Given the description of an element on the screen output the (x, y) to click on. 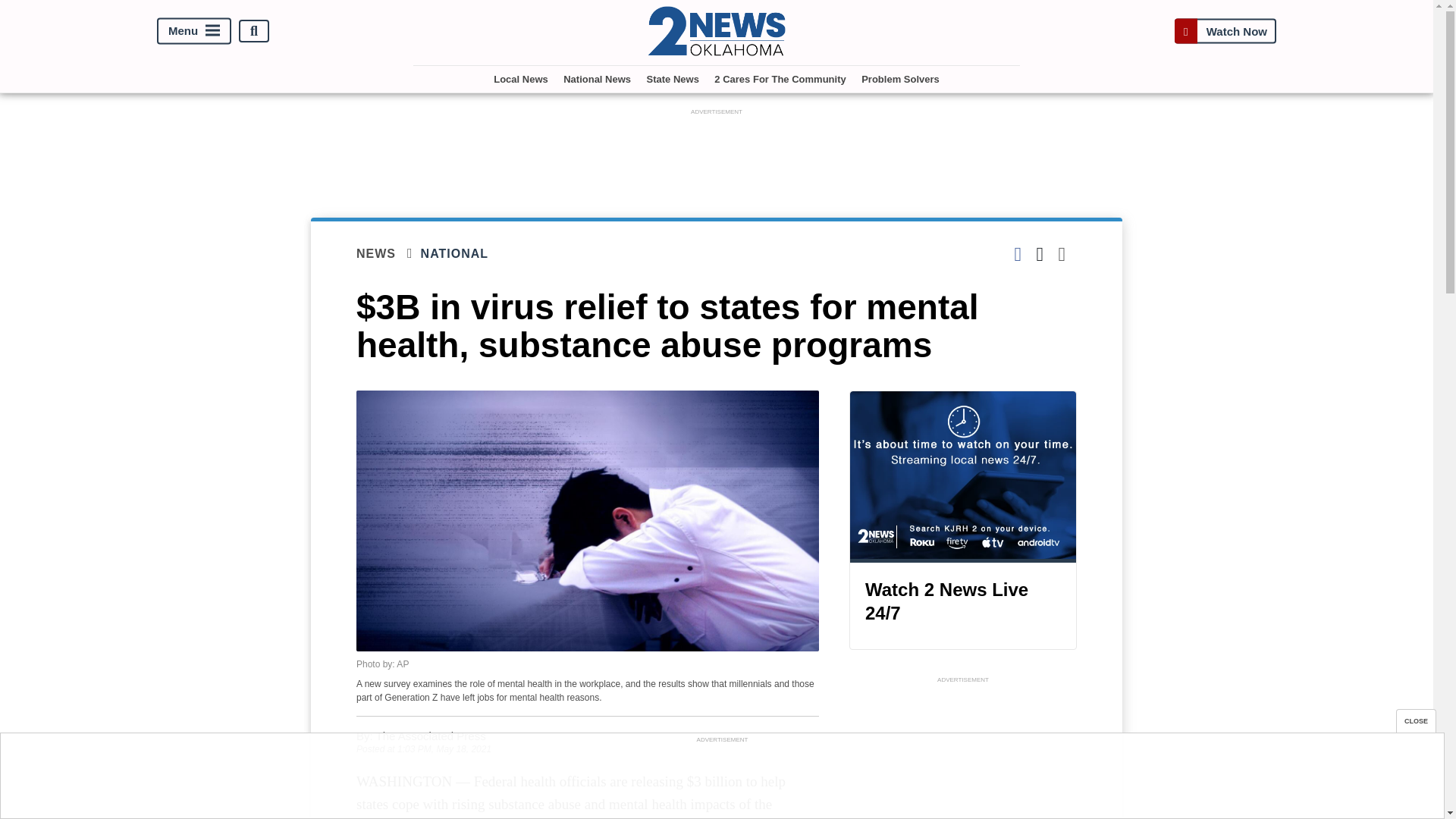
3rd party ad content (962, 753)
Menu (194, 31)
Watch Now (1224, 31)
3rd party ad content (721, 780)
3rd party ad content (716, 152)
